Given the description of an element on the screen output the (x, y) to click on. 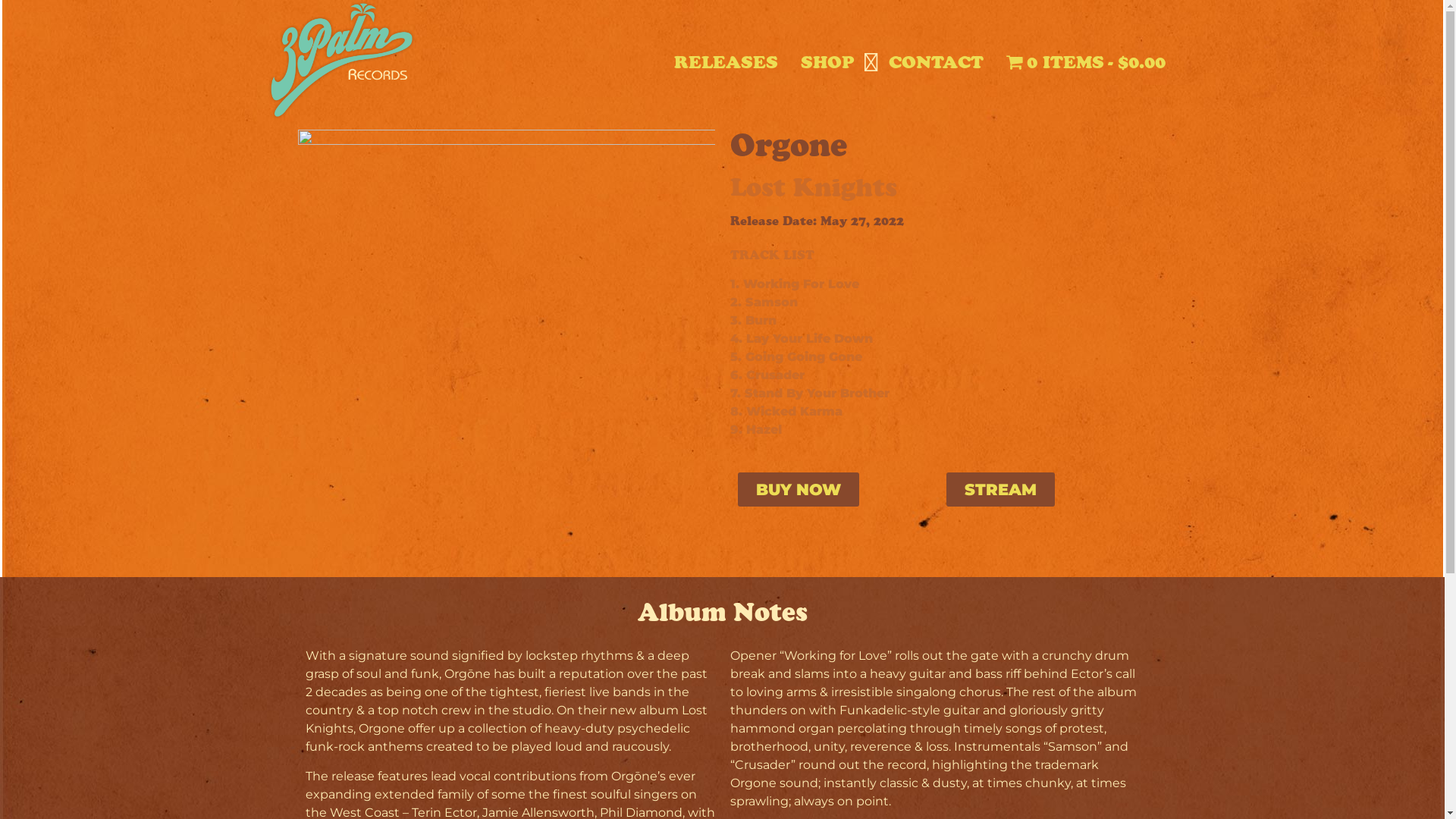
0 ITEMS$0.00 Element type: text (1085, 62)
SHOP Element type: text (827, 62)
RELEASES Element type: text (725, 62)
CONTACT Element type: text (935, 62)
Releases Element type: text (722, 165)
BUY NOW Element type: text (797, 489)
STREAM Element type: text (1000, 489)
